Given the description of an element on the screen output the (x, y) to click on. 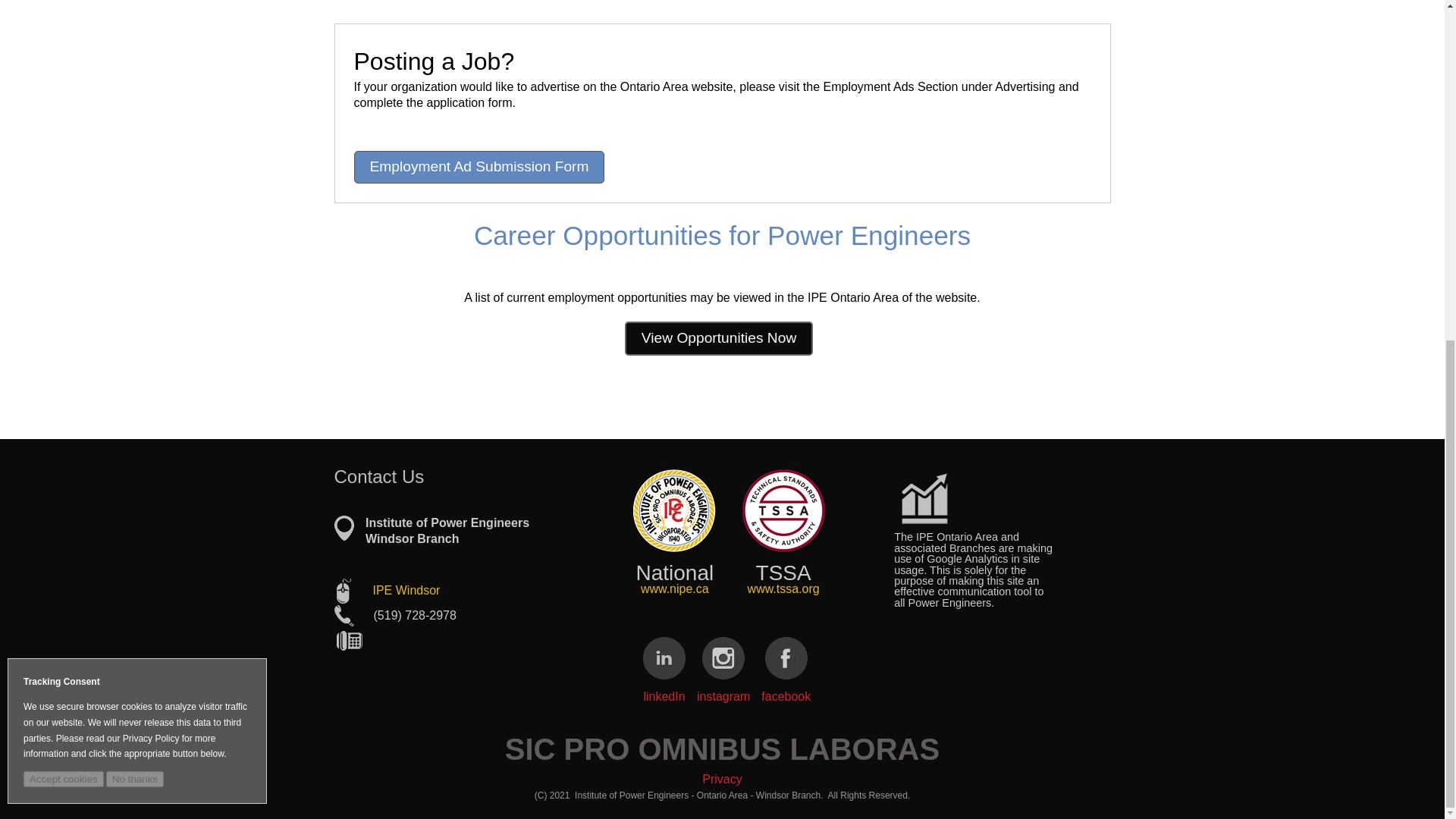
www.nipe.ca (674, 588)
IPE Branch Fax Number (348, 640)
site analytics (924, 499)
Employment Ad Submission Form (478, 166)
IPE Ads Mobile (674, 510)
IPE Windsor (406, 590)
IPE ONT linkedIn (664, 658)
www.tssa.org (783, 588)
View Opportunities Now (718, 338)
IPE facebook (786, 658)
TSSA (783, 510)
No thanks (134, 202)
linkedIn (664, 685)
instagram (723, 685)
Accept cookies (63, 202)
